Given the description of an element on the screen output the (x, y) to click on. 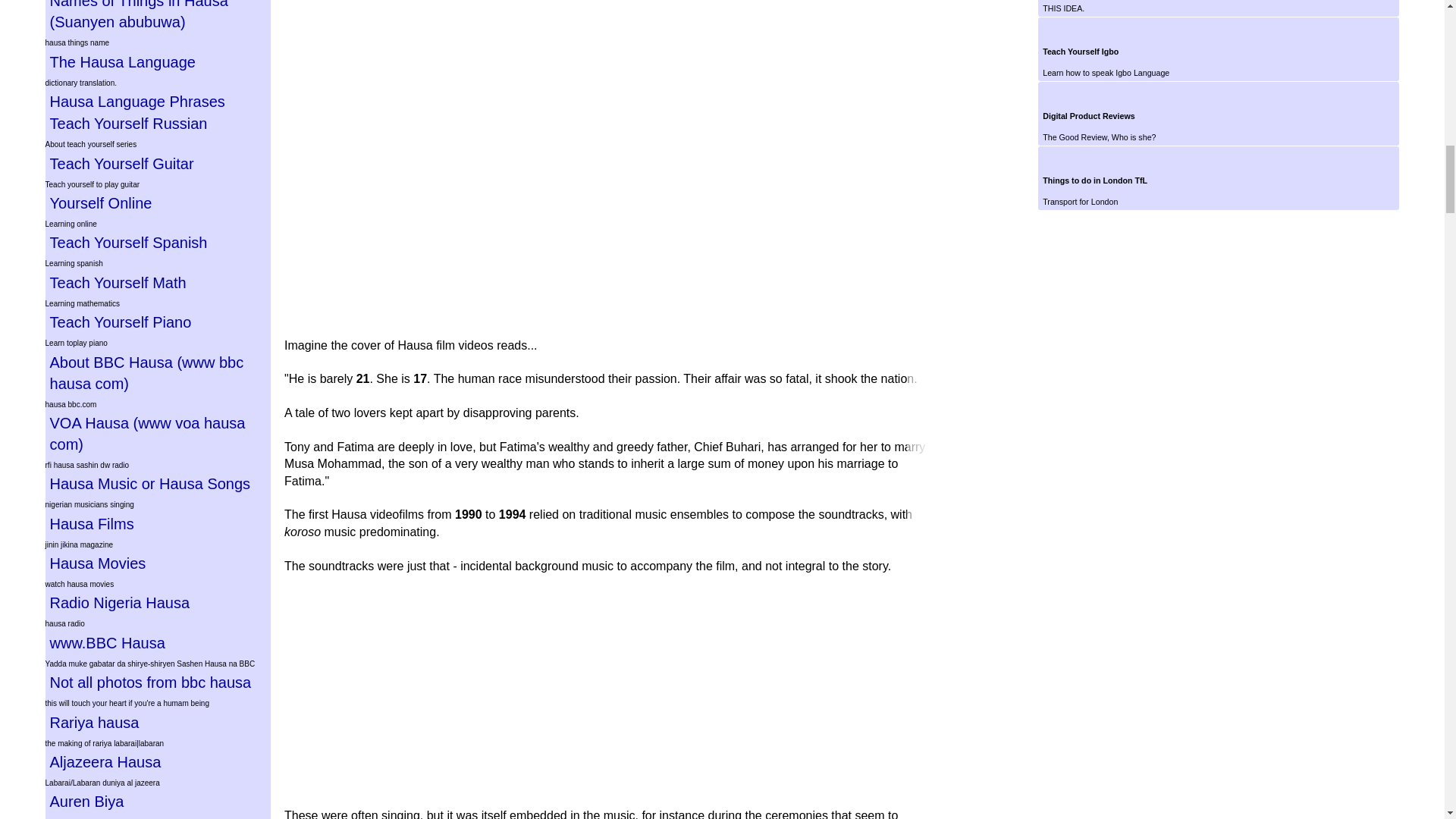
Teach Yourself Guitar (157, 163)
Teach Yourself Math (157, 282)
The Hausa Language (157, 61)
Teach Yourself Russian (157, 123)
Hausa Language Phrases (157, 101)
Teach Yourself Spanish (157, 242)
Yourself Online (157, 202)
